Given the description of an element on the screen output the (x, y) to click on. 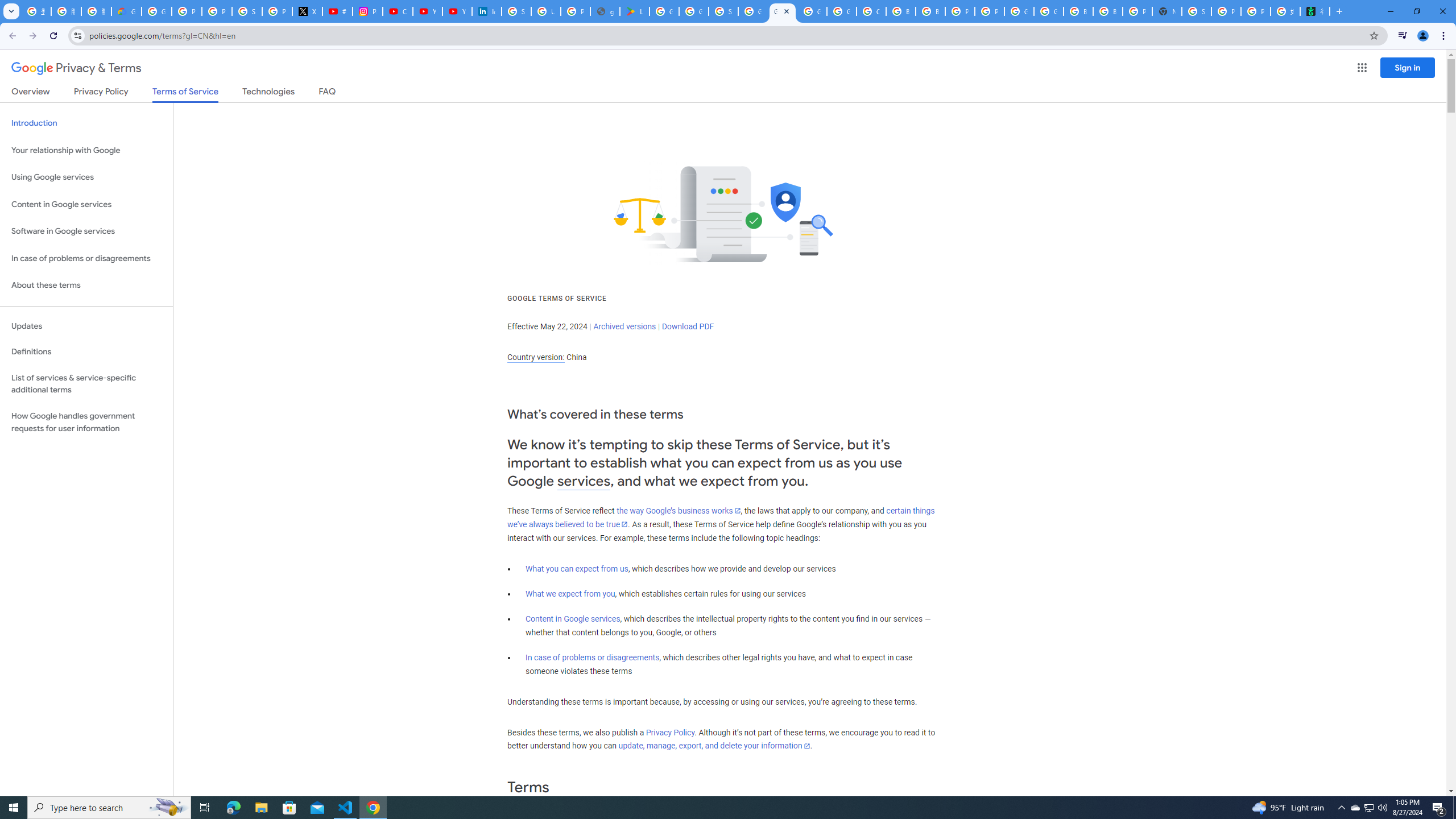
About these terms (86, 284)
Google Cloud Privacy Notice (126, 11)
Google Cloud Platform (1048, 11)
services (583, 480)
